Given the description of an element on the screen output the (x, y) to click on. 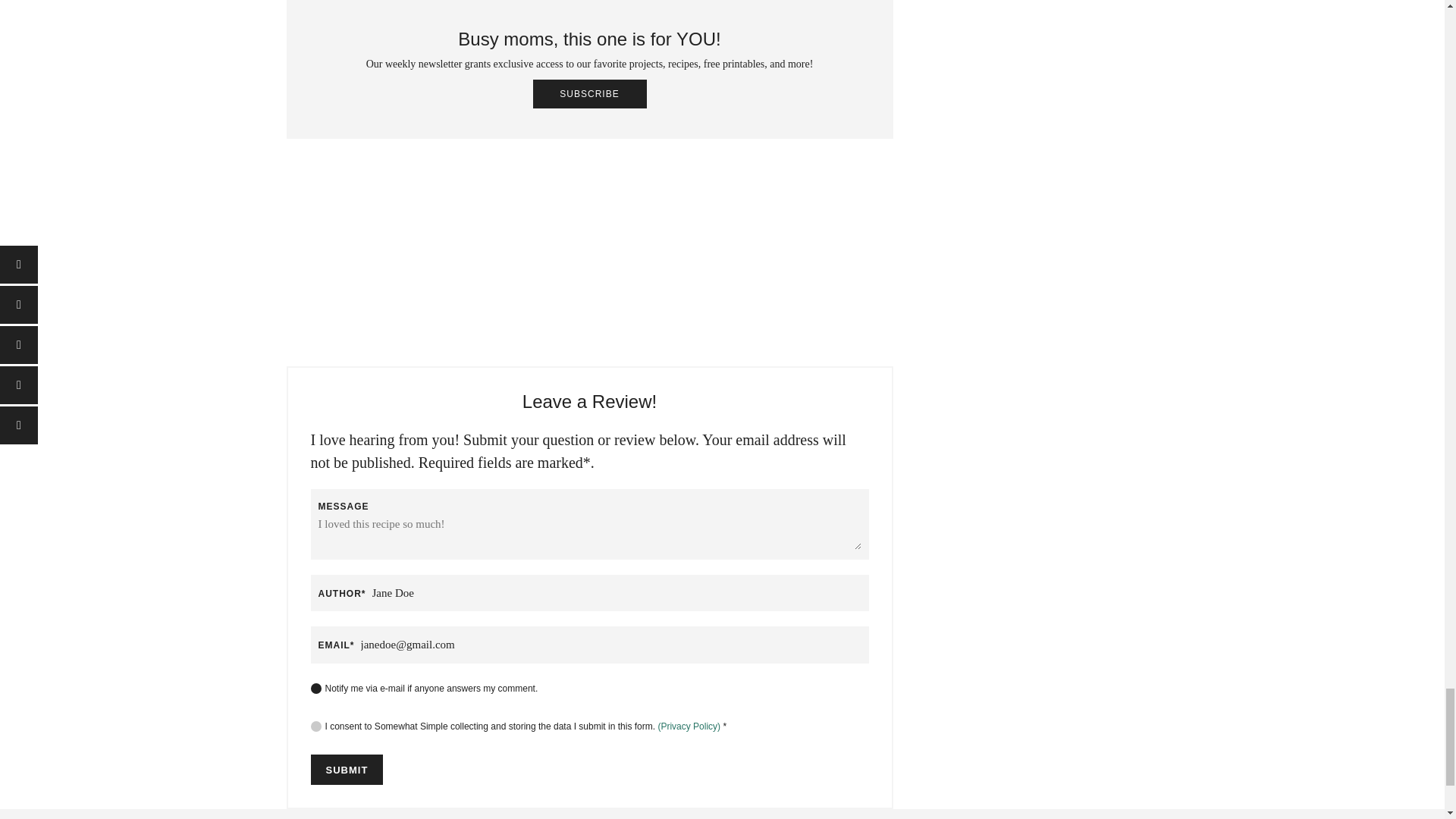
yes (316, 726)
Submit (347, 769)
on (316, 688)
